Given the description of an element on the screen output the (x, y) to click on. 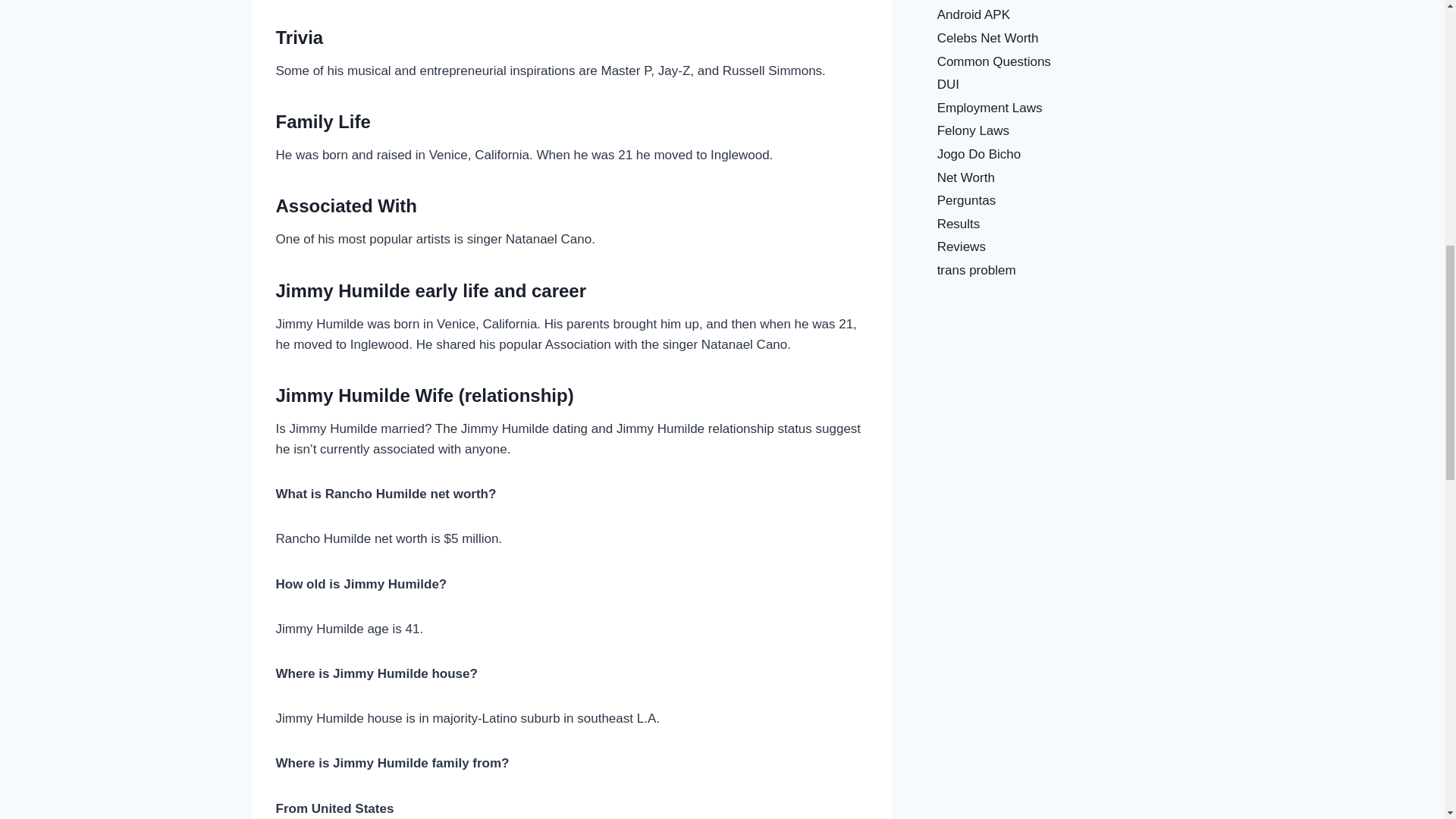
Advertisement (1065, 408)
